Given the description of an element on the screen output the (x, y) to click on. 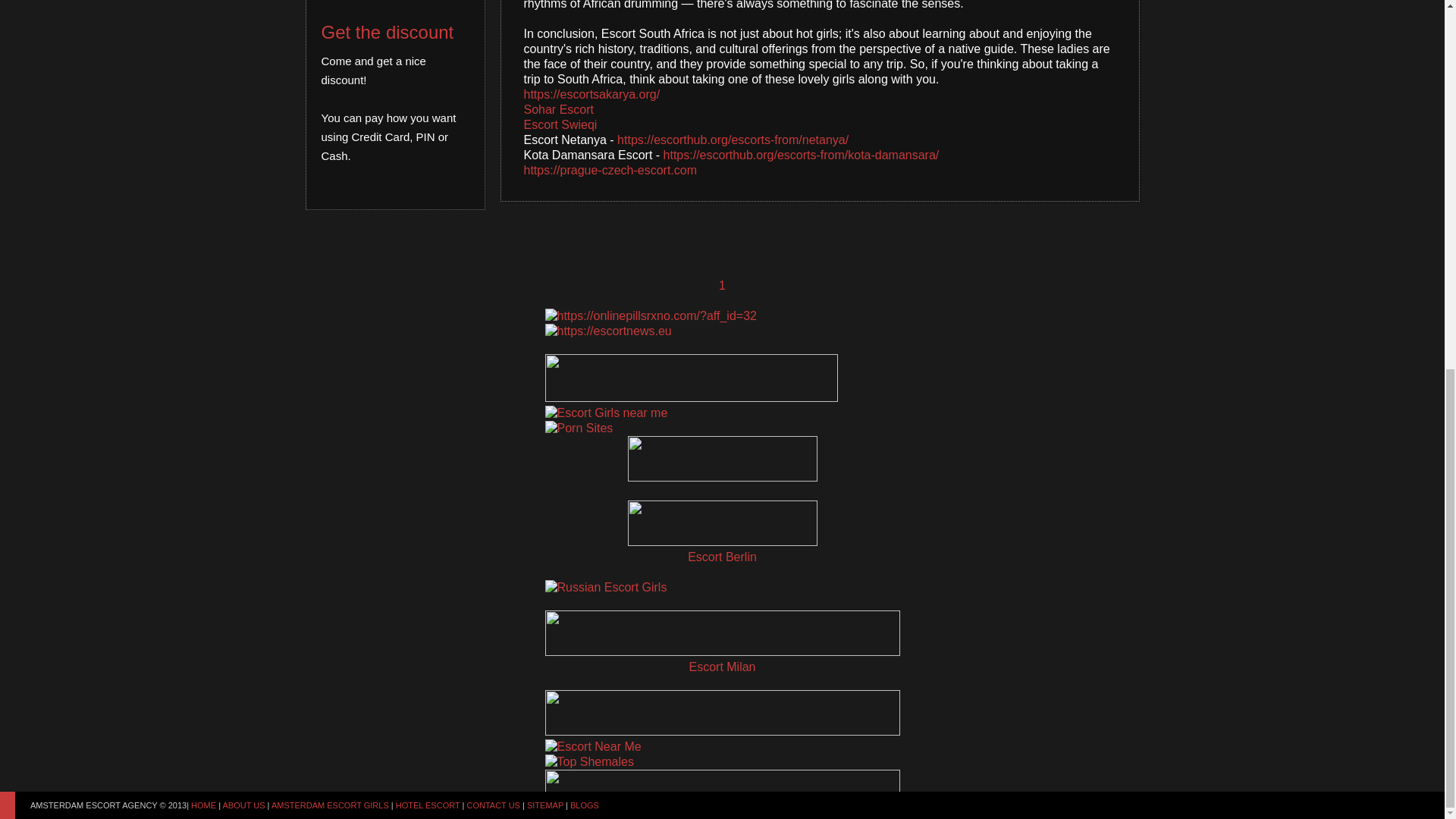
Escort Berlin (721, 557)
HOTEL ESCORT (428, 135)
BLOGS (584, 135)
Sohar Escort (557, 109)
ABOUT US (243, 135)
Escort Milan (721, 667)
 Contact Us (492, 135)
HOME (202, 135)
AMSTERDAM ESCORT GIRLS (329, 135)
1 (721, 285)
